Given the description of an element on the screen output the (x, y) to click on. 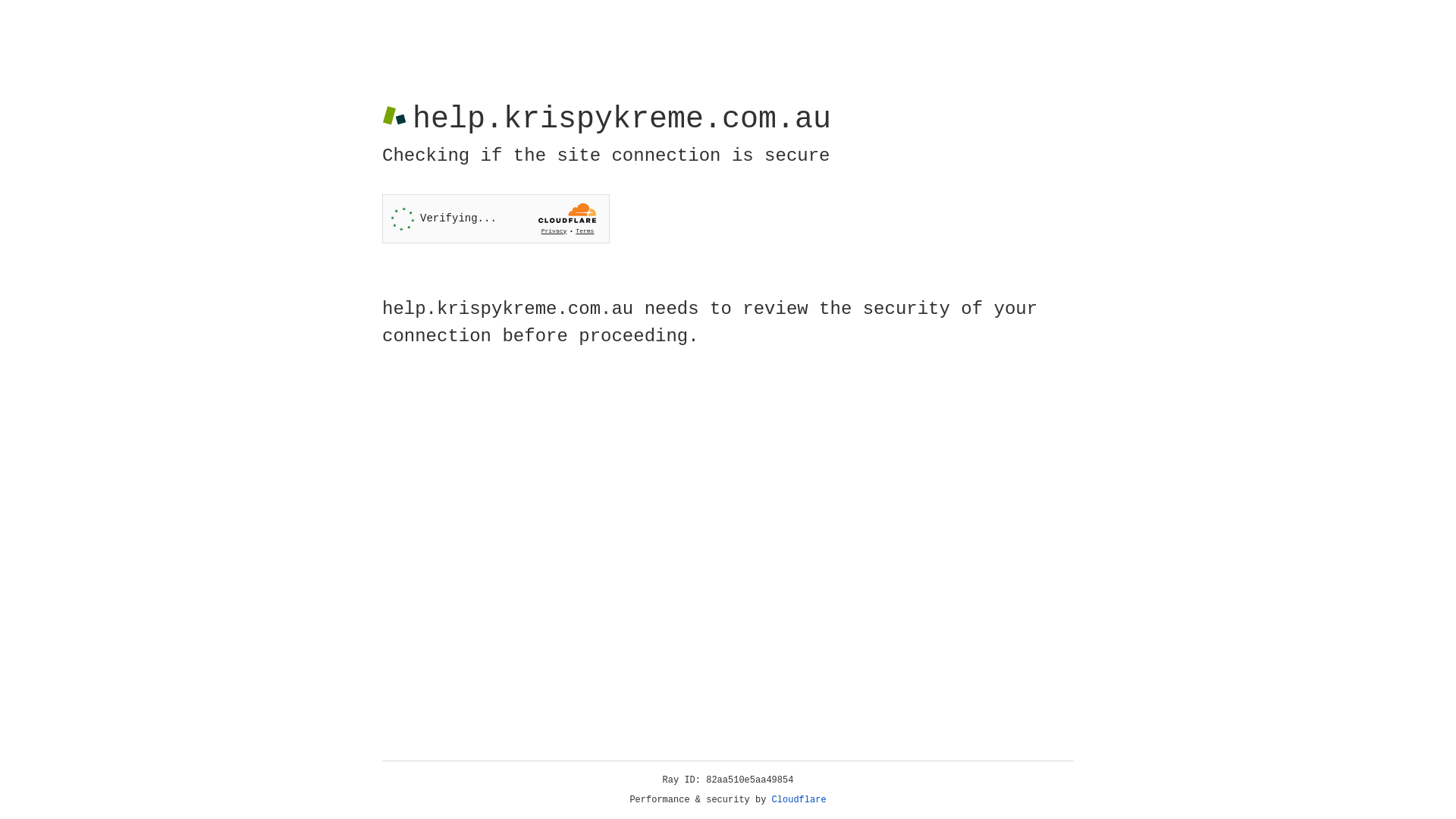
Cloudflare Element type: text (798, 799)
Widget containing a Cloudflare security challenge Element type: hover (495, 218)
